Given the description of an element on the screen output the (x, y) to click on. 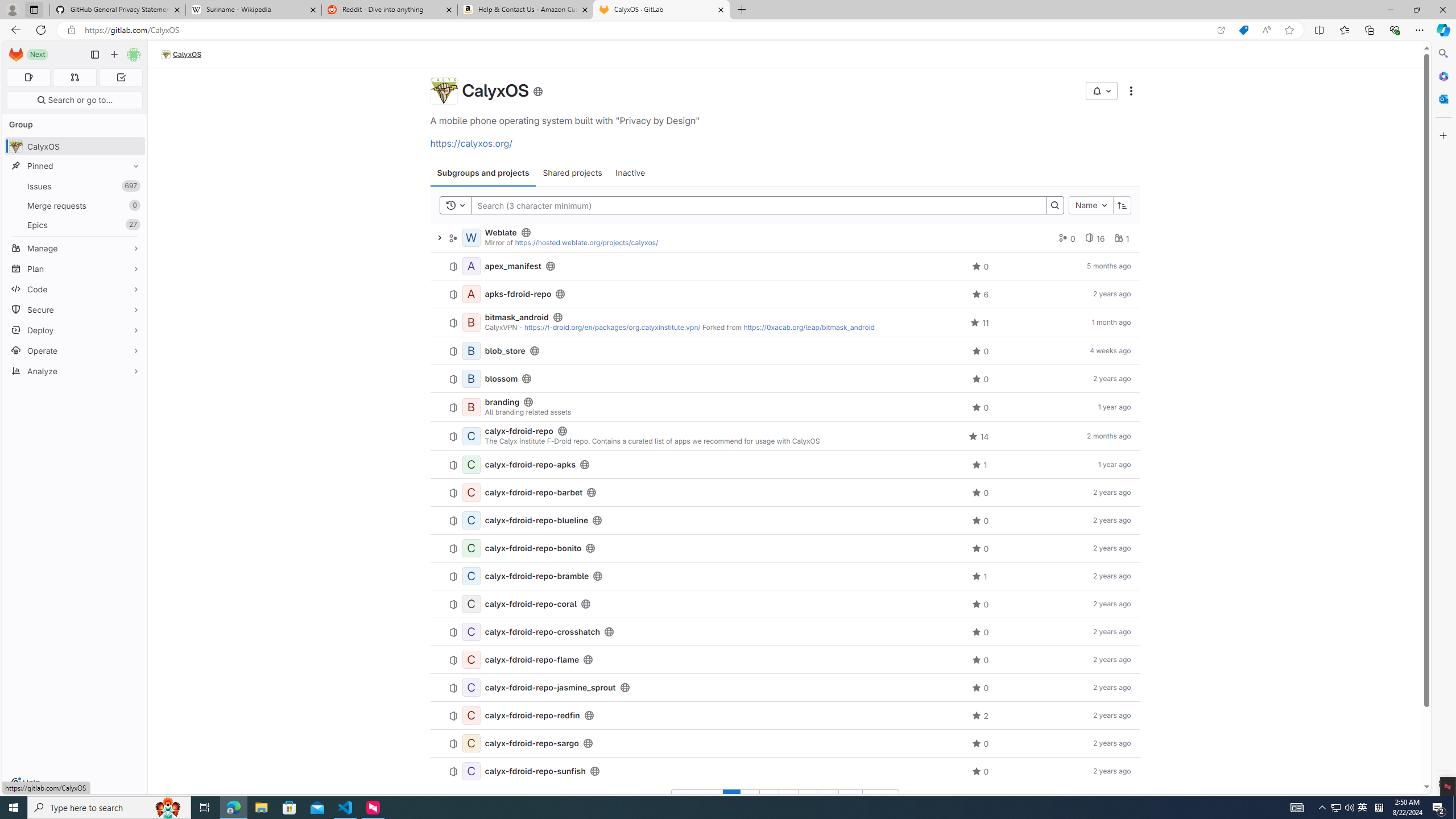
Epics27 (74, 224)
Analyze (74, 370)
Ccalyx-fdroid-repo-bonito02 years ago (784, 548)
Ccalyx-fdroid-repo-sargo02 years ago (784, 743)
CalyxOS (181, 54)
https://calyxos.org/ (470, 143)
calyx-fdroid-repo (518, 430)
Expand (438, 237)
calyx-fdroid-repo-apks (529, 464)
Go to page 1 (731, 799)
Operate (74, 350)
Ccalyx-fdroid-repo-sunfish02 years ago (784, 770)
Assigned issues 0 (28, 76)
calyx-fdroid-repo-sargo (531, 742)
